Given the description of an element on the screen output the (x, y) to click on. 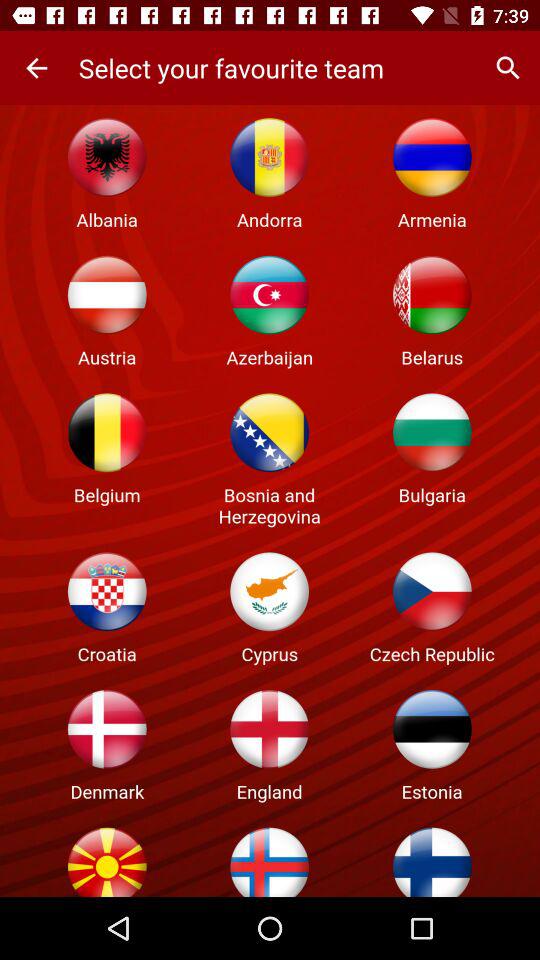
press the app to the right of the select your favourite item (508, 67)
